Given the description of an element on the screen output the (x, y) to click on. 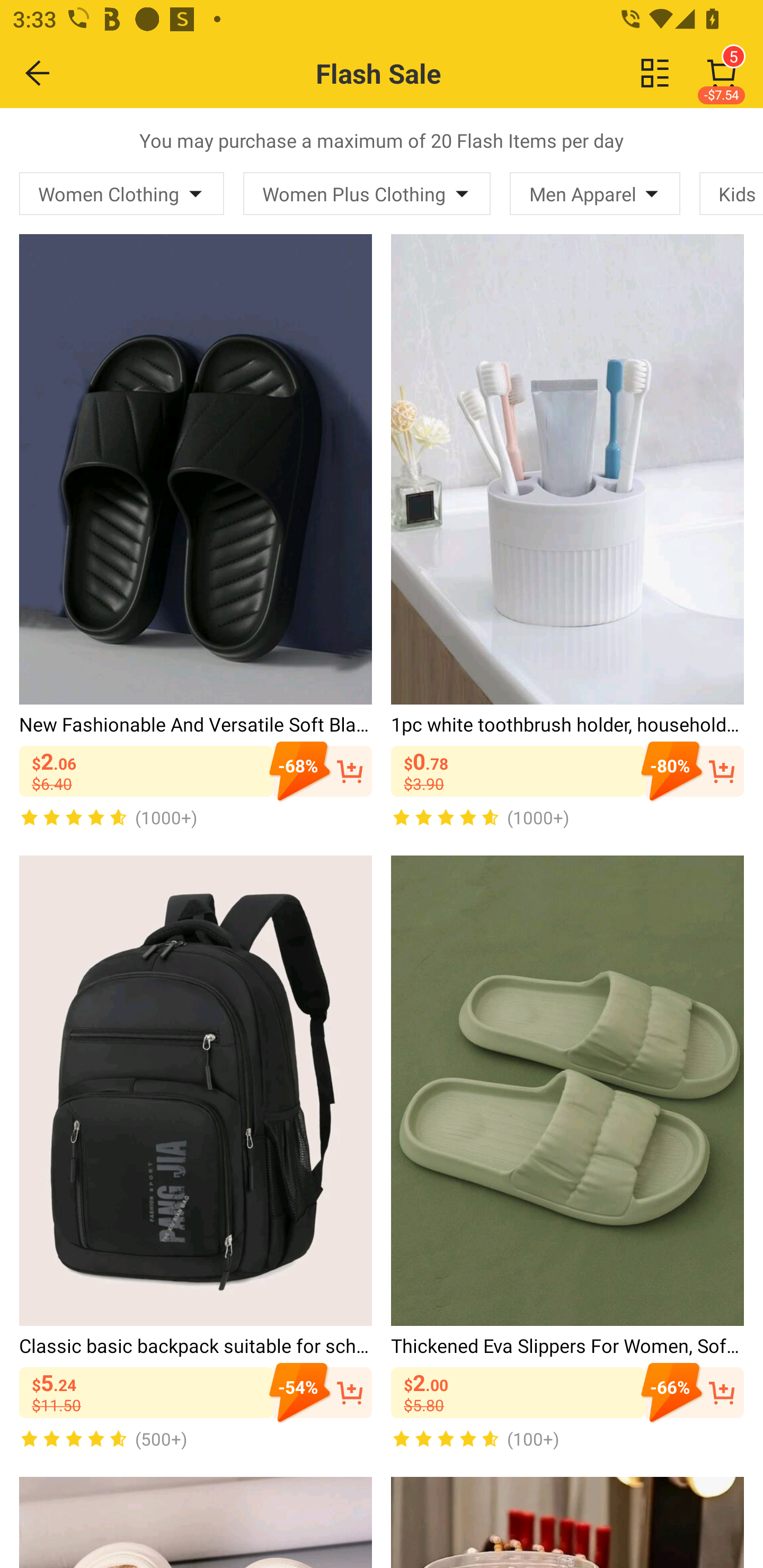
Flash Sale change view 5 -$7.54 (419, 72)
5 -$7.54 (721, 72)
change view (654, 72)
BACK (38, 72)
Women Clothing (121, 193)
Women Plus Clothing (366, 193)
Men Apparel (594, 193)
